Given the description of an element on the screen output the (x, y) to click on. 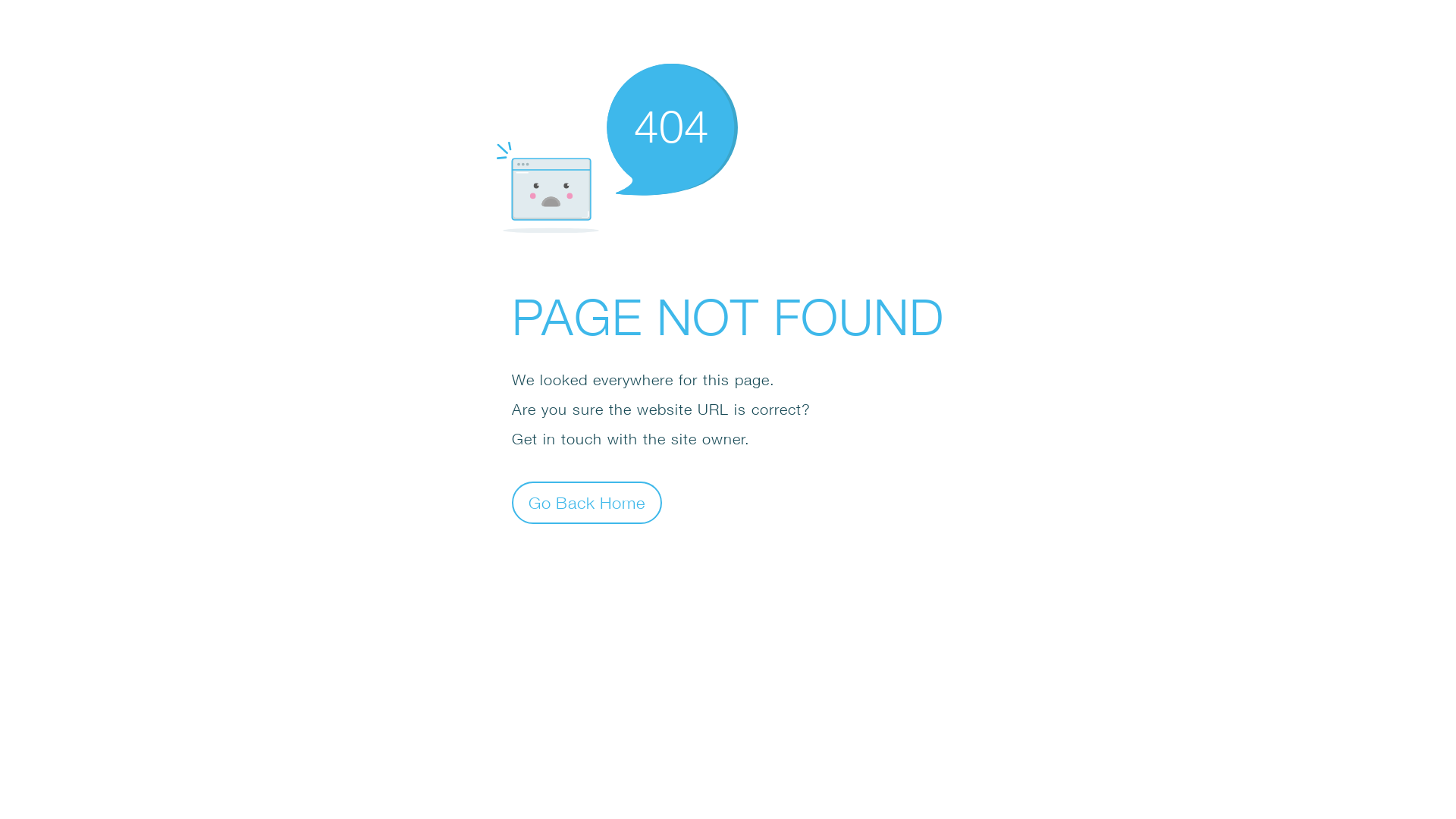
Go Back Home Element type: text (586, 502)
